Given the description of an element on the screen output the (x, y) to click on. 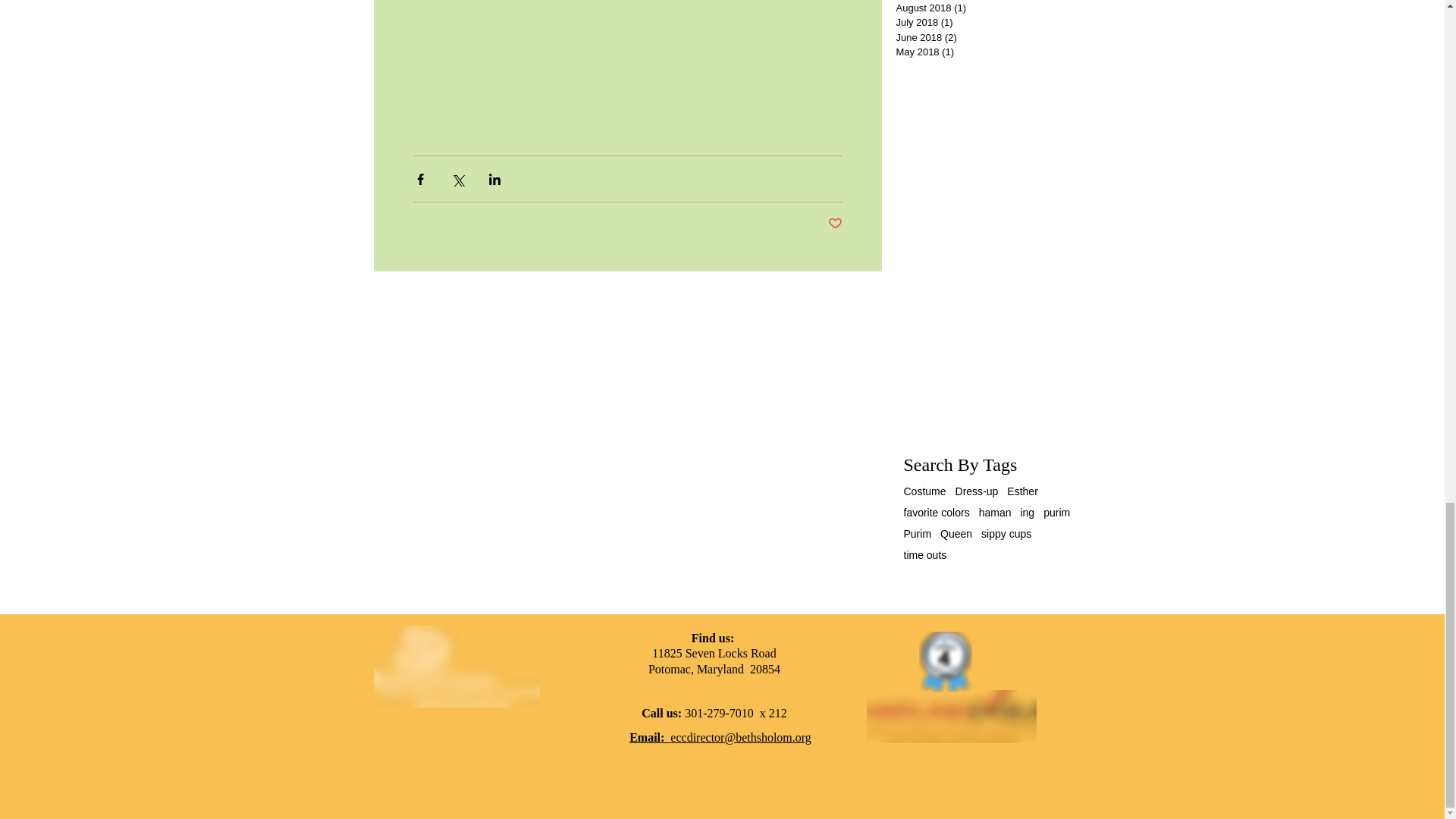
Post not marked as liked (835, 223)
